Given the description of an element on the screen output the (x, y) to click on. 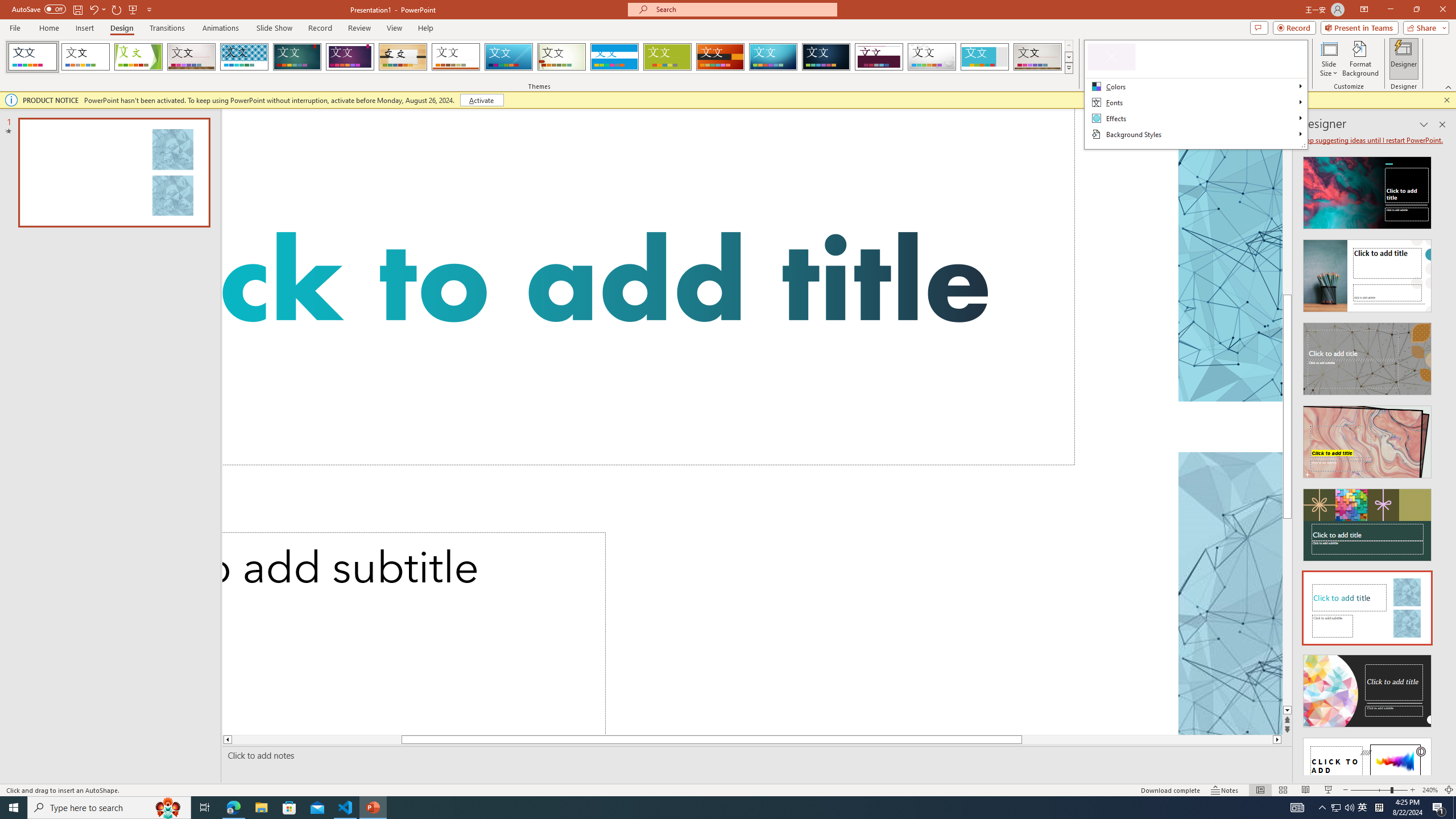
FadeVTI (32, 56)
